Given the description of an element on the screen output the (x, y) to click on. 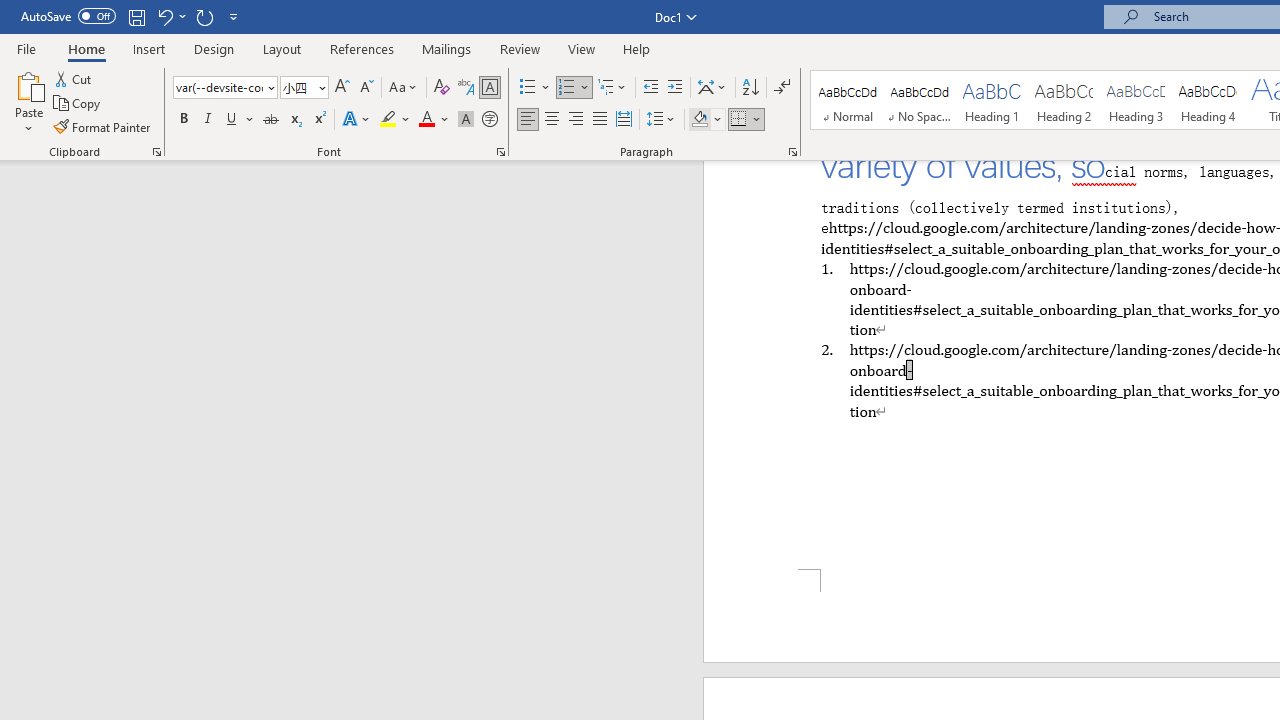
Repeat Border Bottom (204, 15)
Italic (207, 119)
Increase Indent (675, 87)
Strikethrough (270, 119)
Heading 4 (1208, 100)
Shading RGB(0, 0, 0) (699, 119)
Shading (706, 119)
Line and Paragraph Spacing (661, 119)
Character Shading (465, 119)
Text Effects and Typography (357, 119)
